Given the description of an element on the screen output the (x, y) to click on. 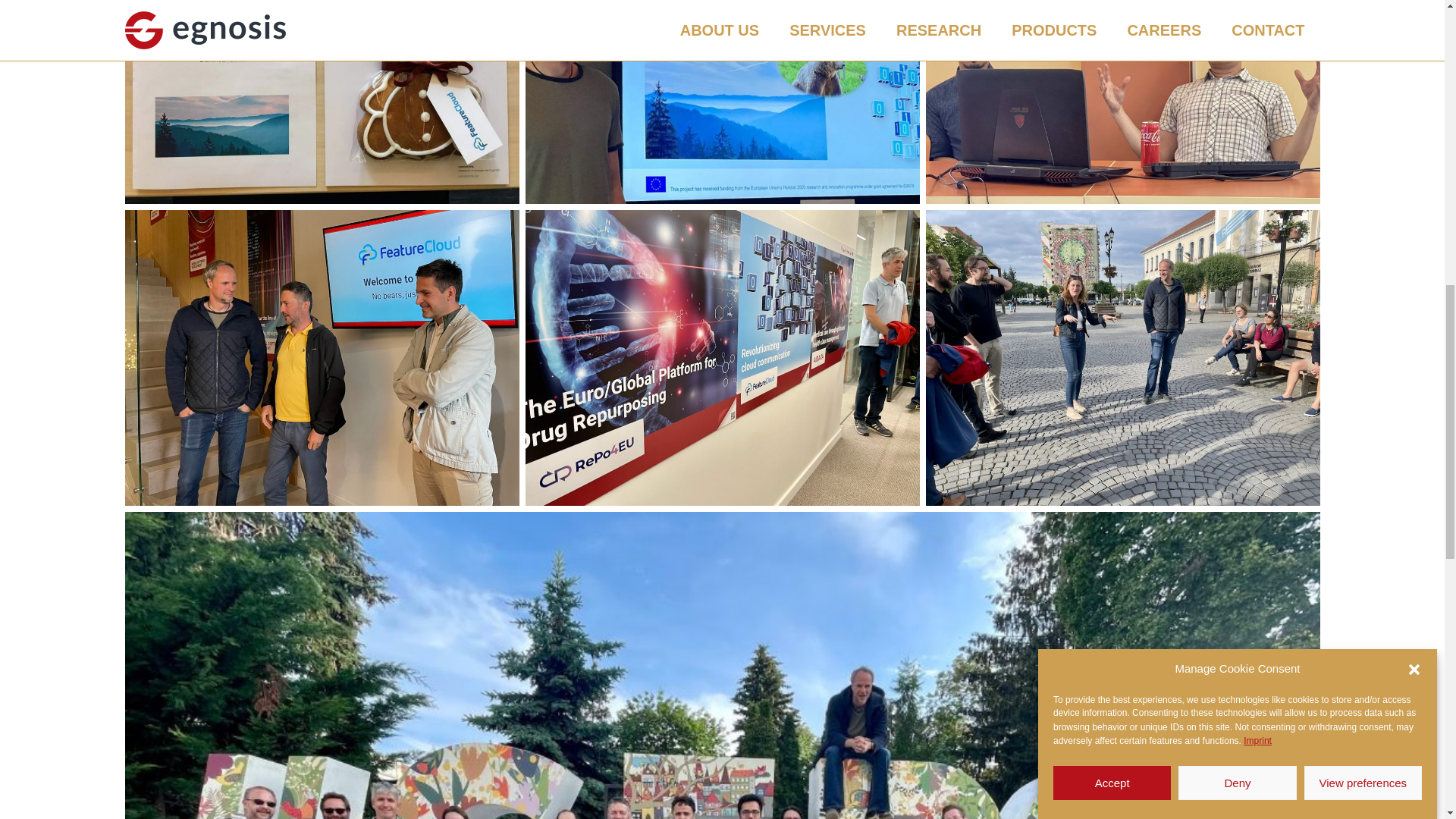
Accept (1111, 252)
View preferences (1363, 205)
Imprint (1257, 322)
Deny (1236, 236)
